Given the description of an element on the screen output the (x, y) to click on. 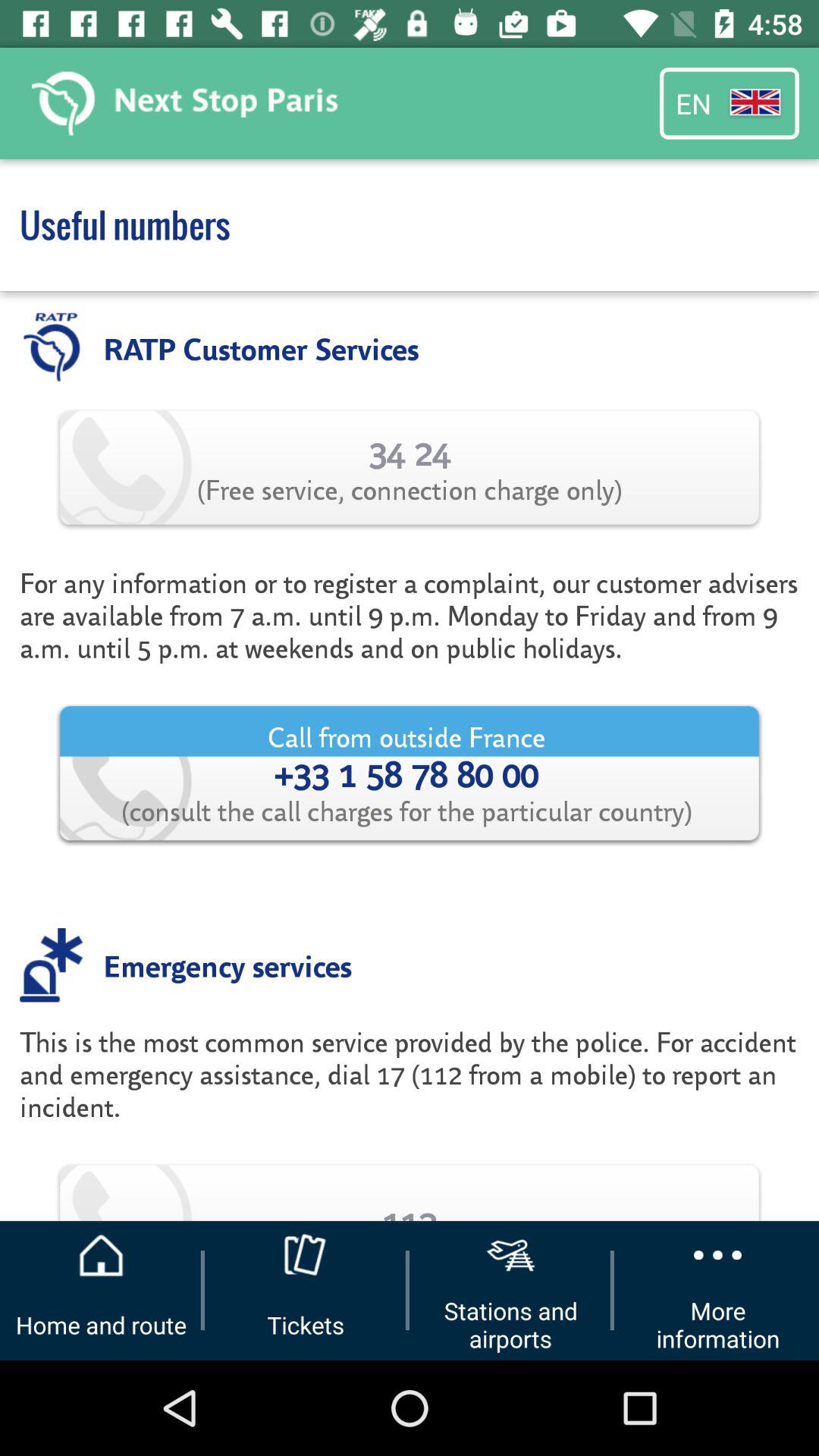
press the app above the 112 icon (409, 1090)
